Given the description of an element on the screen output the (x, y) to click on. 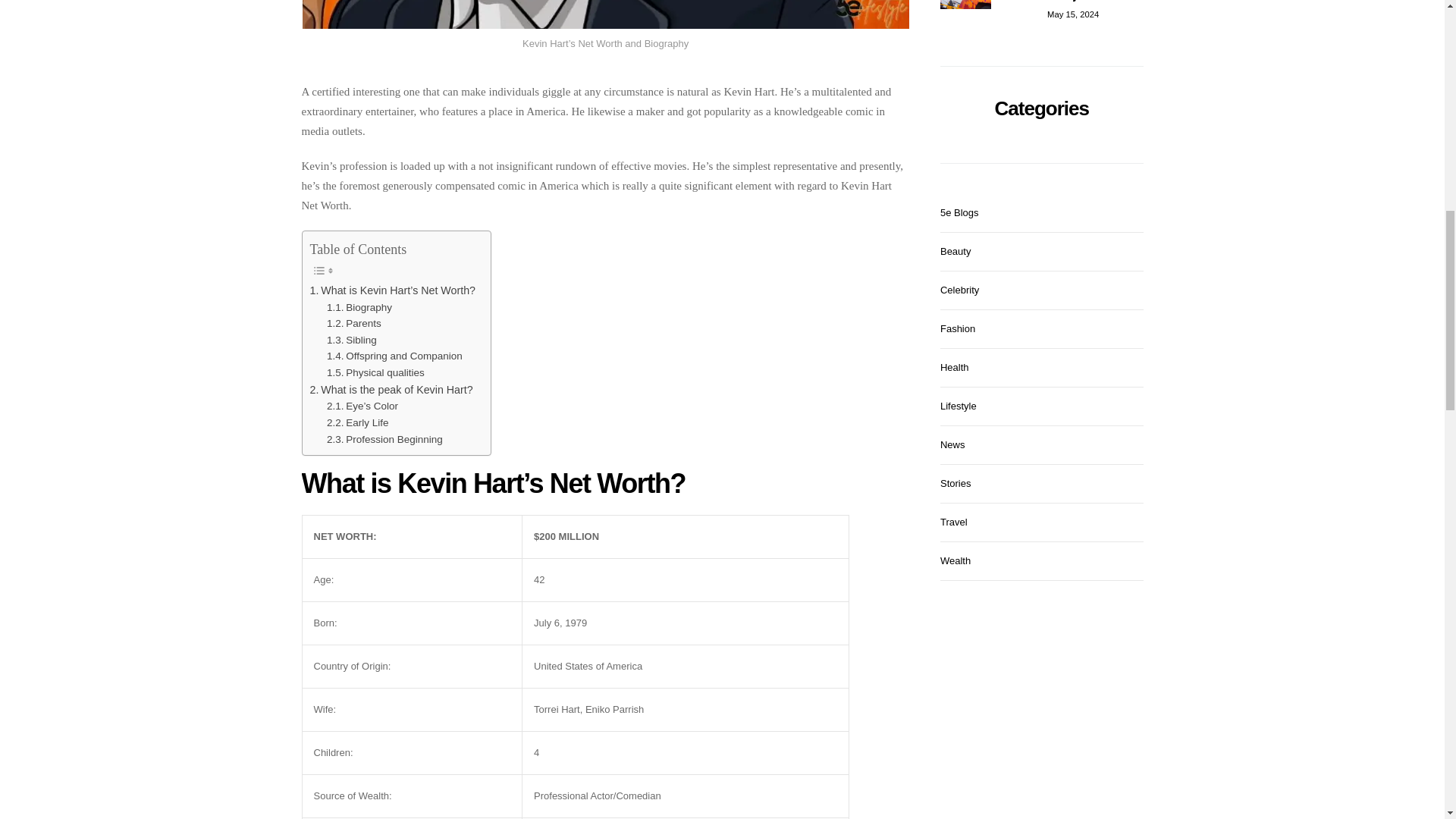
Parents (353, 323)
Sibling (351, 340)
Biography (358, 307)
Profession Beginning (384, 439)
Offspring and Companion (394, 356)
Parents (353, 323)
Sibling (351, 340)
What is the peak of Kevin Hart? (389, 389)
Early Life (357, 422)
Biography (358, 307)
